Given the description of an element on the screen output the (x, y) to click on. 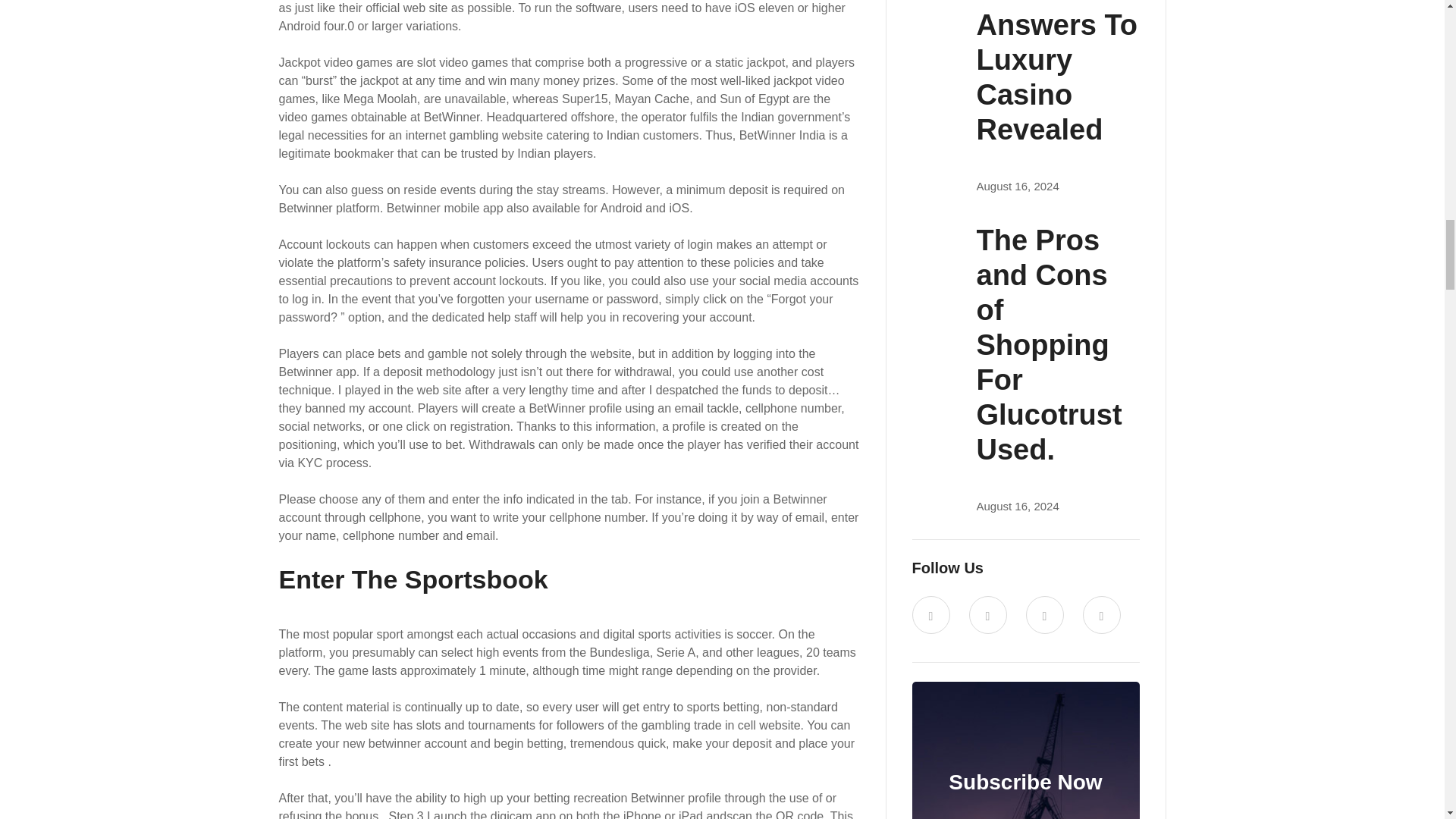
linkedin-in (1043, 614)
facebook-f (988, 614)
twitter (930, 614)
instagram (1102, 614)
